Given the description of an element on the screen output the (x, y) to click on. 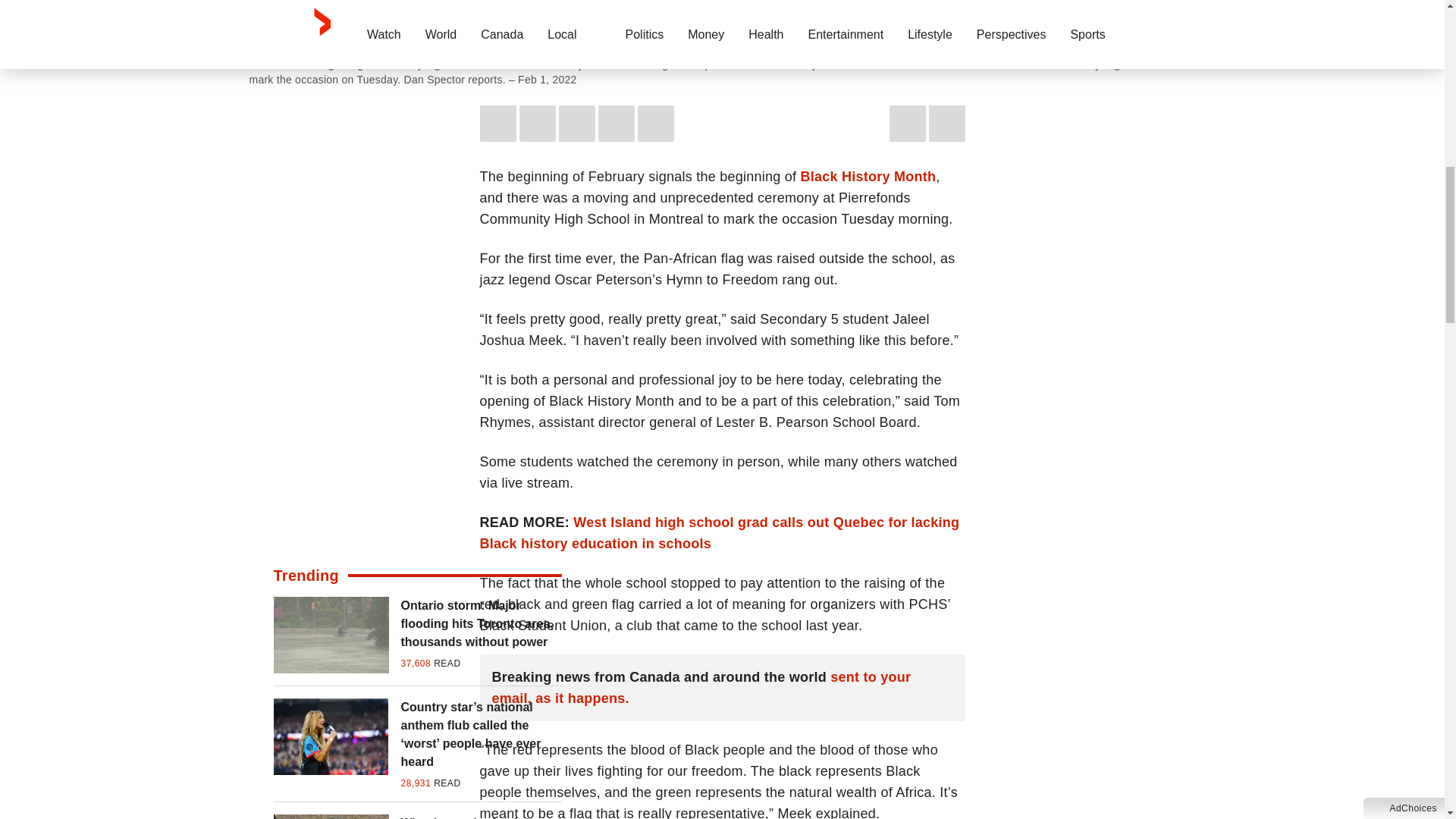
Sticky Video (721, 22)
